Given the description of an element on the screen output the (x, y) to click on. 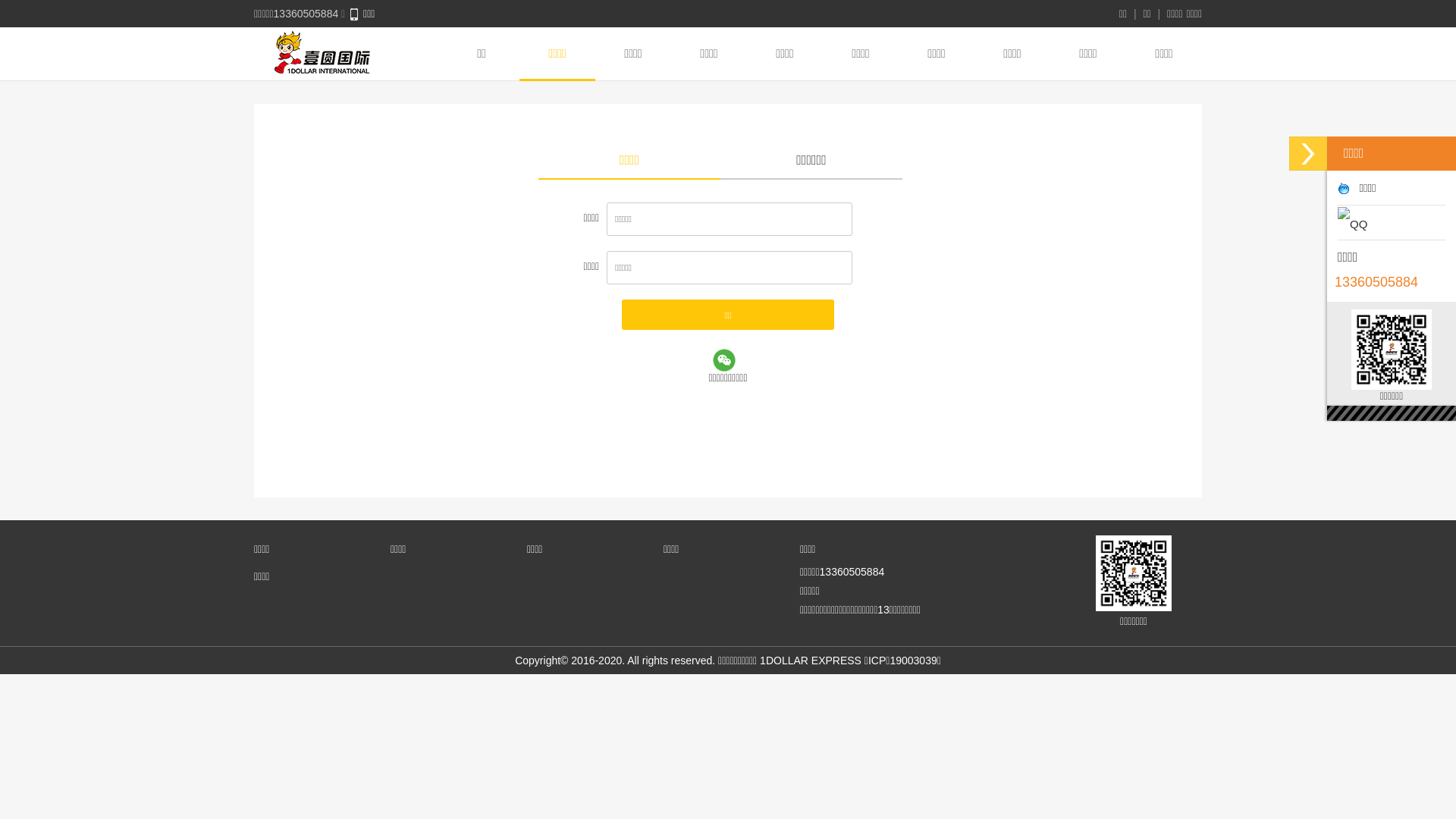
   Element type: text (1355, 222)
